Given the description of an element on the screen output the (x, y) to click on. 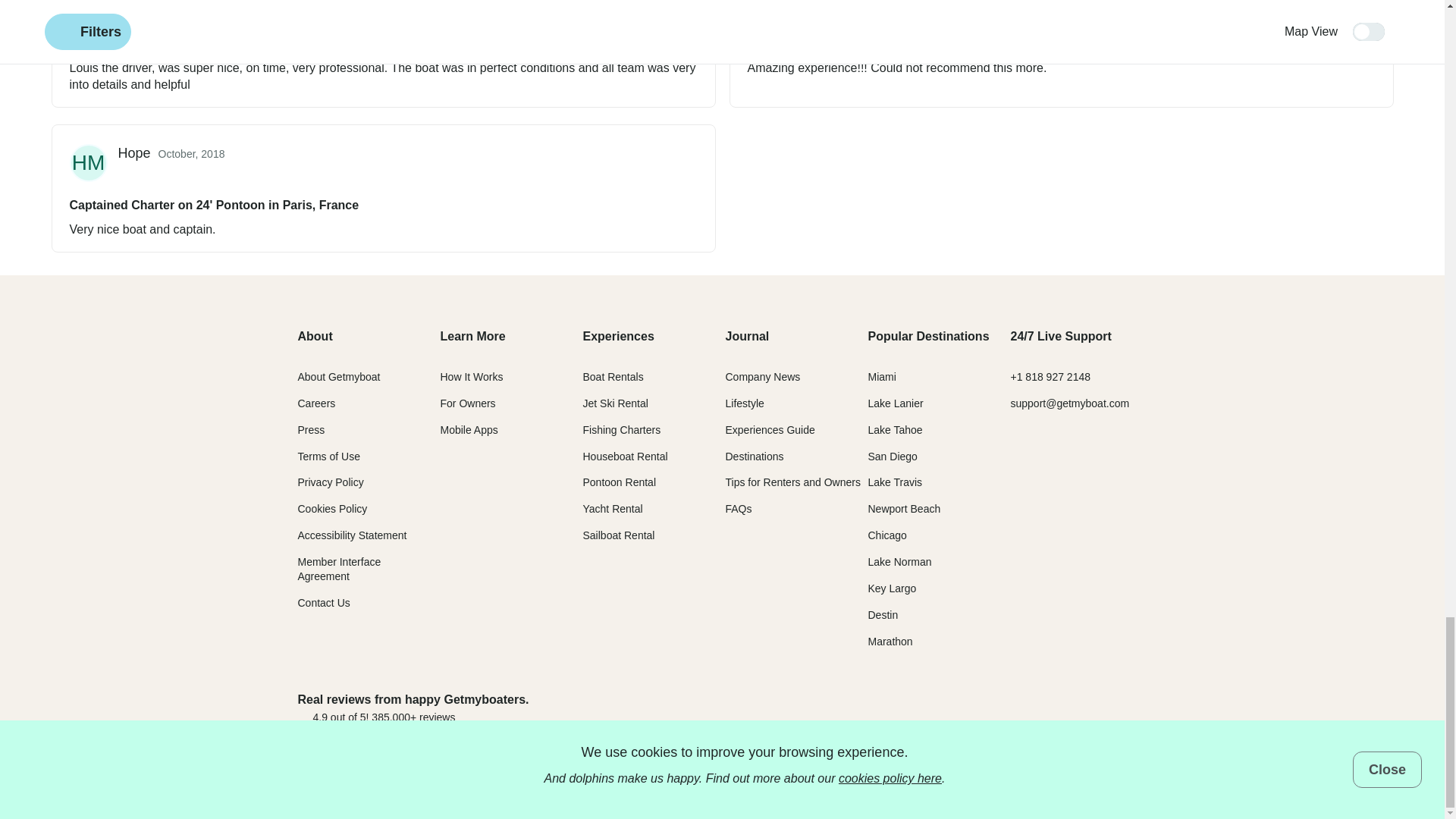
Download on the App Store (977, 707)
YouTube (1139, 784)
Instagram (1029, 784)
Facebook (975, 784)
Pinterest (1111, 784)
Twitter (1002, 784)
LinkedIn (1056, 784)
TikTok (1084, 784)
Get it on Google Play (1096, 707)
